Given the description of an element on the screen output the (x, y) to click on. 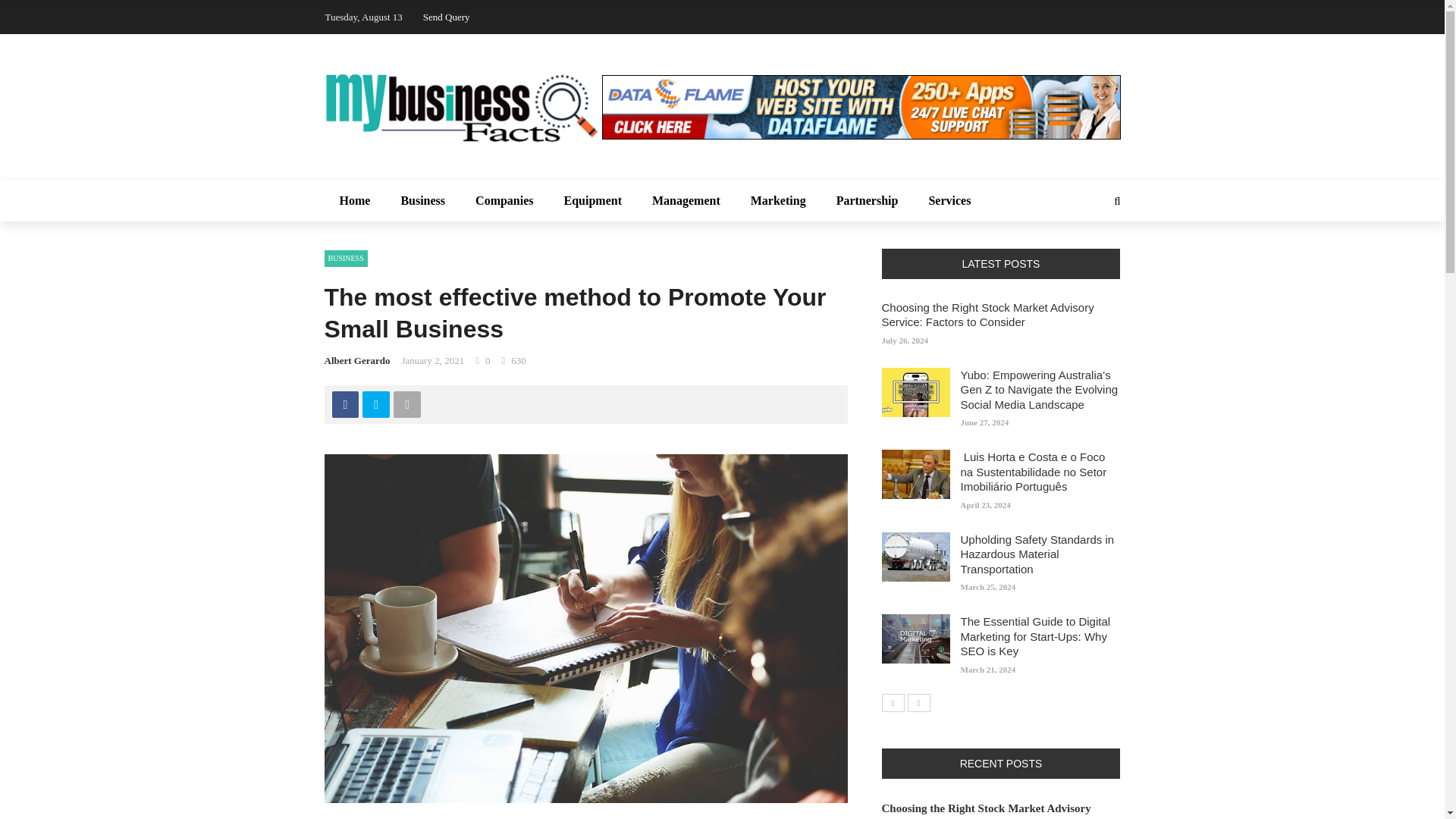
BUSINESS (346, 258)
Home (354, 200)
Albert Gerardo (357, 360)
Equipment (592, 200)
Business (422, 200)
Partnership (867, 200)
Services (948, 200)
Marketing (778, 200)
Send Query (446, 16)
Management (686, 200)
